Given the description of an element on the screen output the (x, y) to click on. 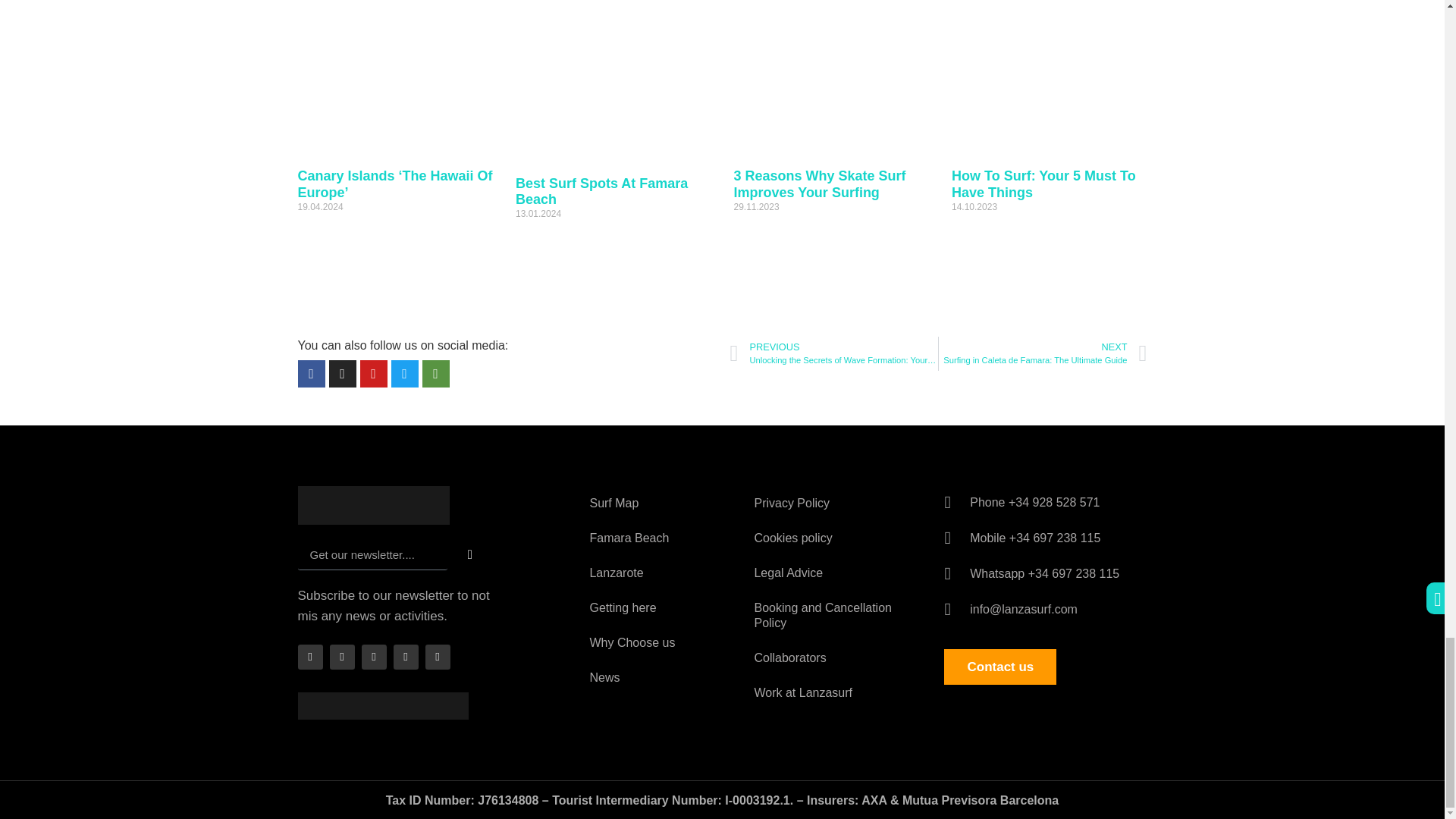
How To Surf: Your 5 Must To Have Things (1043, 183)
3 Reasons Why Skate Surf Improves Your Surfing (819, 183)
Best Surf Spots At Famara Beach (601, 192)
